Given the description of an element on the screen output the (x, y) to click on. 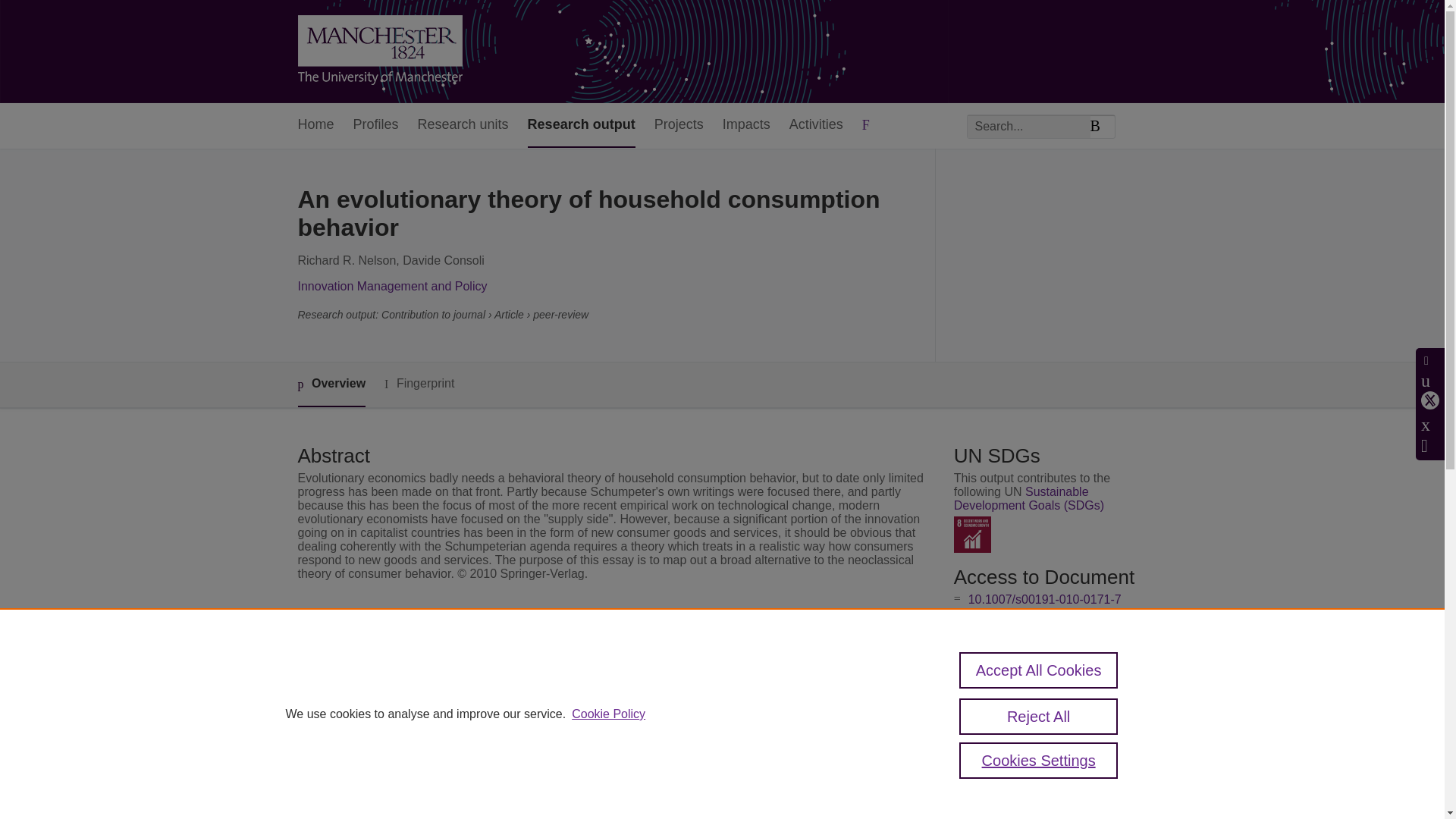
Research output (580, 125)
Overview (331, 384)
Activities (816, 125)
Journal of Evolutionary Economics (600, 664)
Fingerprint (419, 383)
Research Explorer The University of Manchester Home (379, 51)
Research units (462, 125)
Innovation Management and Policy (391, 286)
Profiles (375, 125)
Projects (678, 125)
Impacts (746, 125)
SDG 8 - Decent Work and Economic Growth (972, 534)
